Given the description of an element on the screen output the (x, y) to click on. 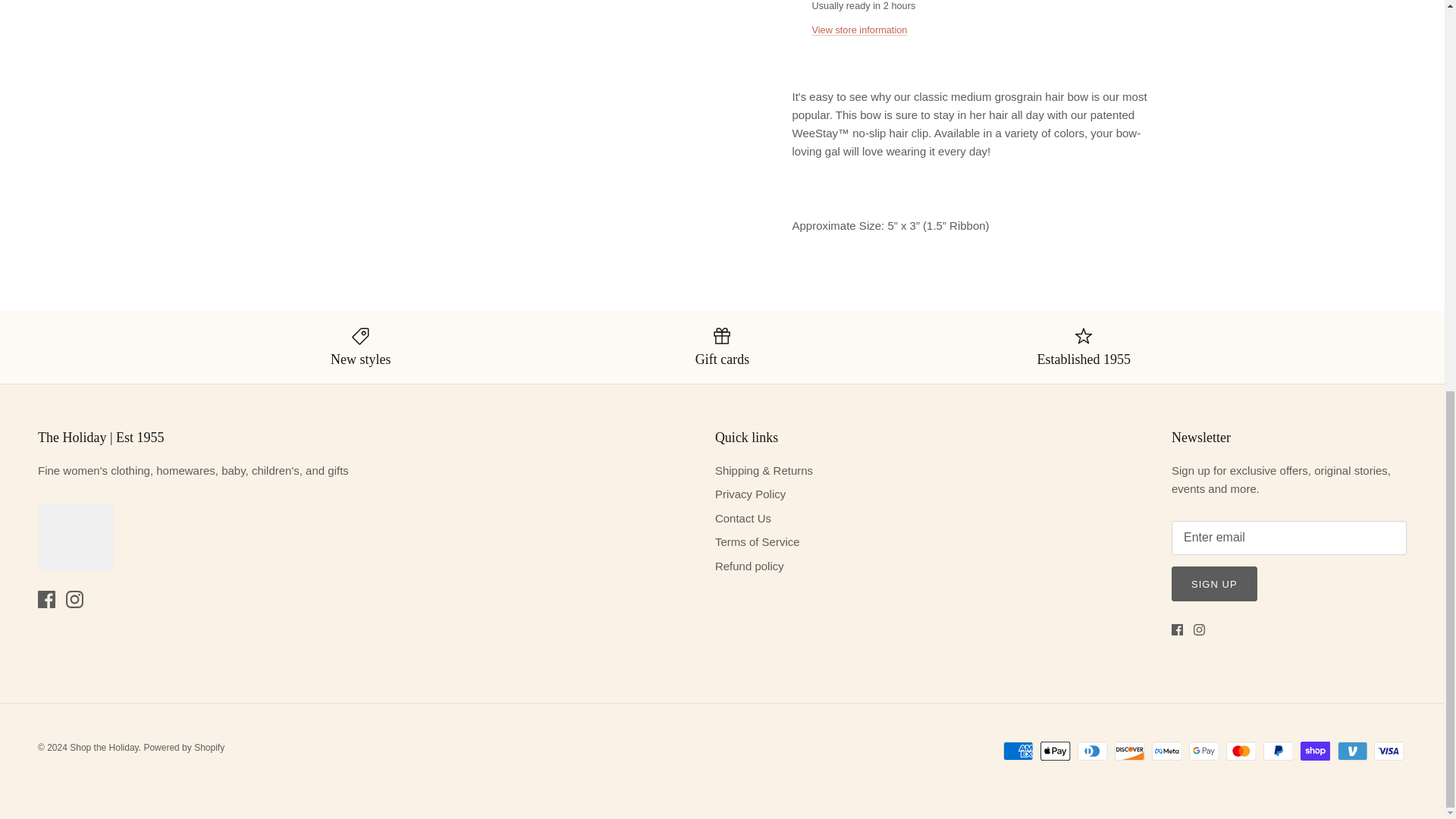
Facebook (46, 599)
Instagram (1199, 629)
Instagram (73, 599)
American Express (1018, 751)
Facebook (1177, 629)
Apple Pay (1055, 751)
Diners Club (1092, 751)
